Given the description of an element on the screen output the (x, y) to click on. 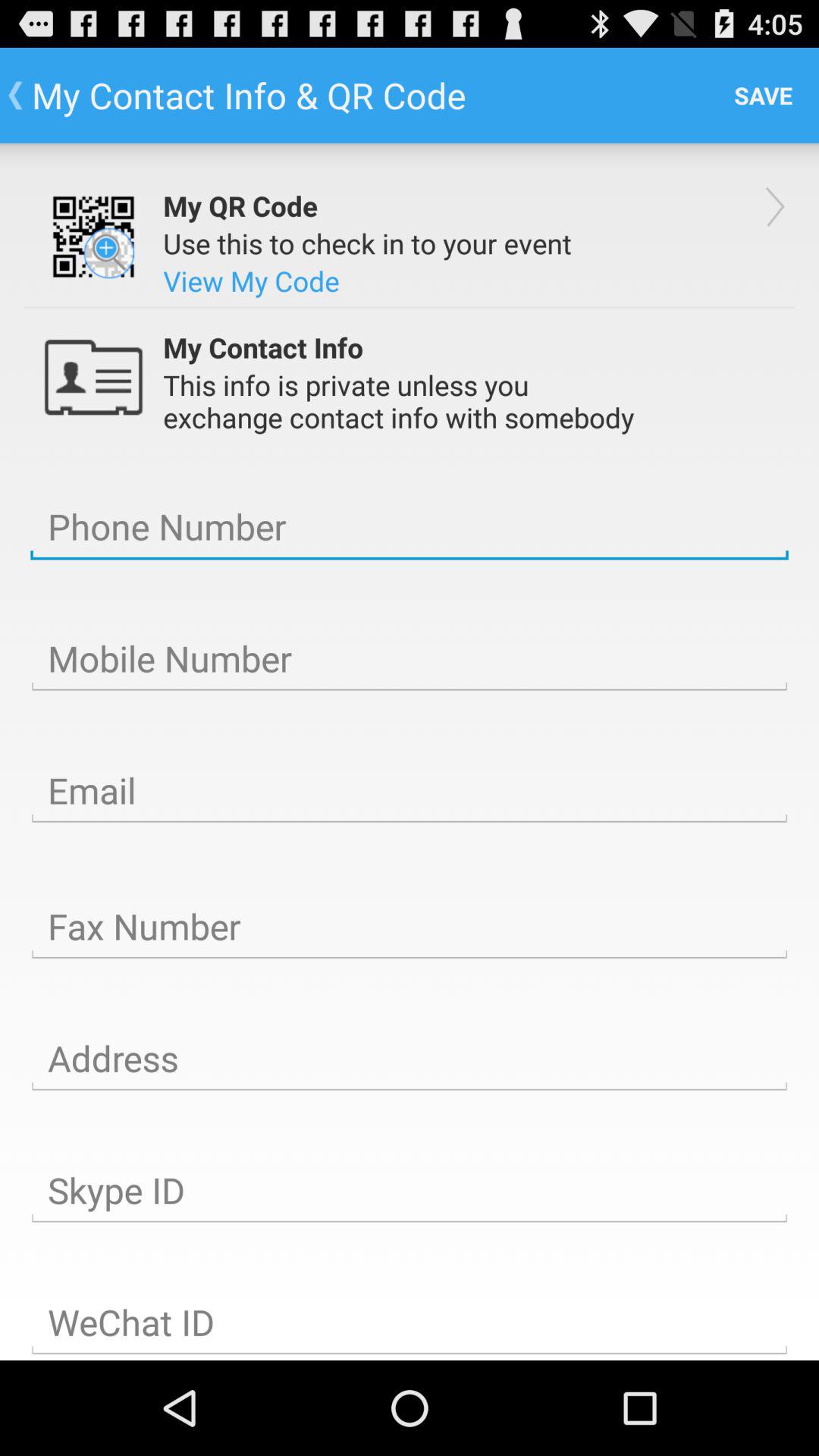
launch app next to the my contact info icon (763, 95)
